Given the description of an element on the screen output the (x, y) to click on. 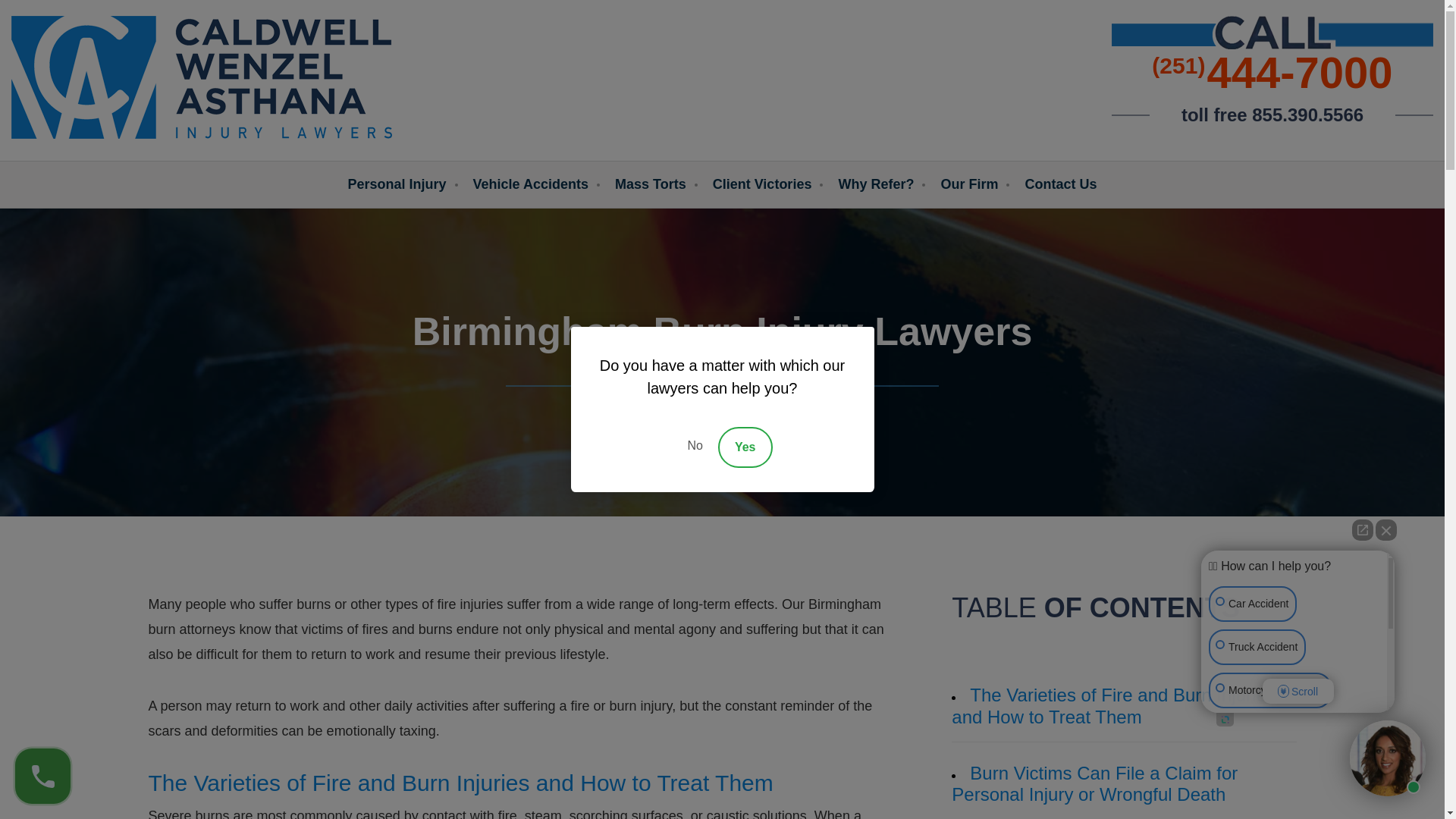
Why Refer? (876, 183)
Client Victories (762, 183)
Vehicle Accidents (530, 183)
Personal Injury (396, 183)
Contact Us (1060, 183)
Mass Torts (649, 183)
855.390.5566 (1307, 114)
444-7000 (1300, 72)
Our Firm (968, 183)
